Given the description of an element on the screen output the (x, y) to click on. 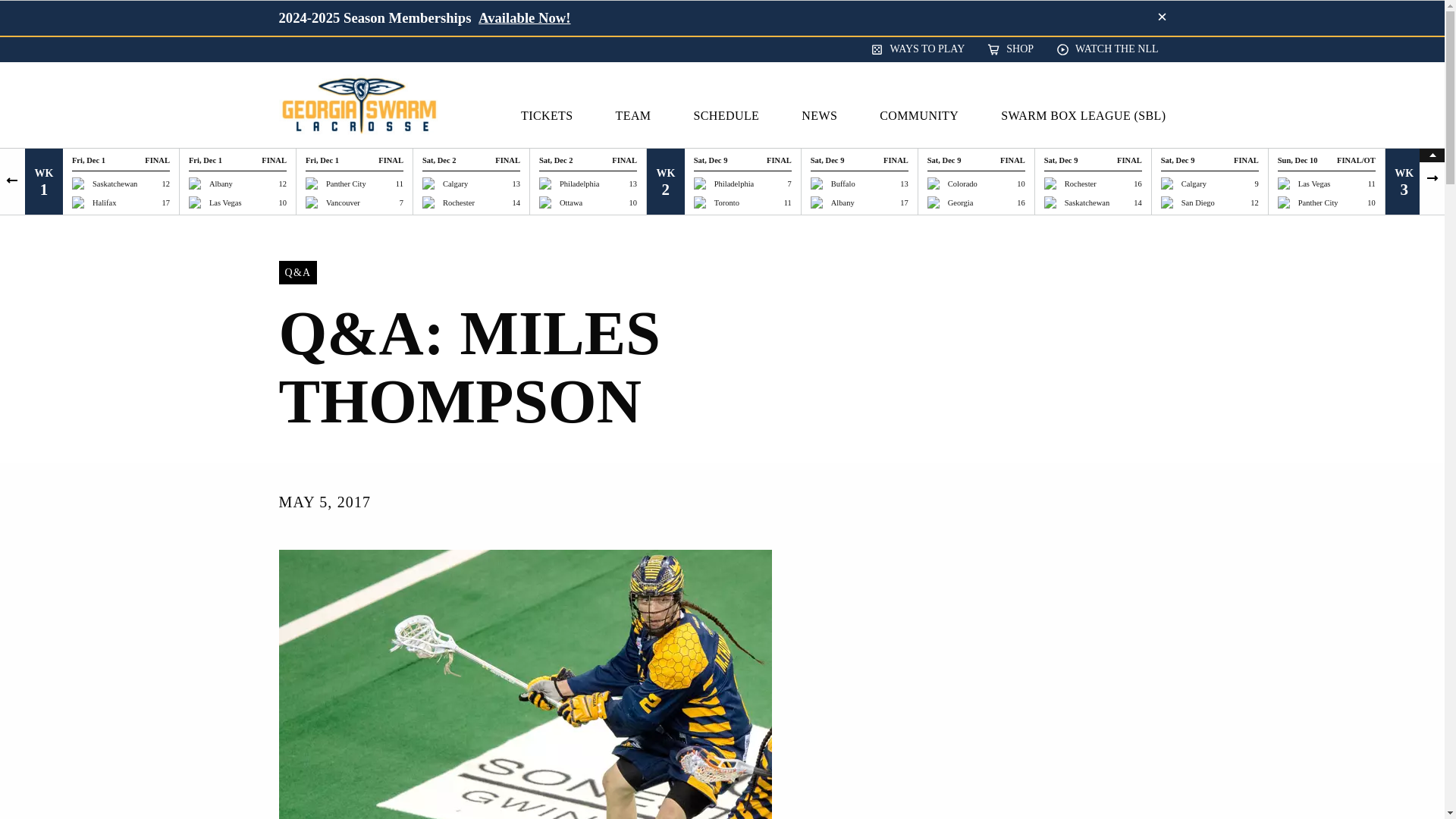
SHOP (1010, 49)
TICKETS (554, 115)
WAYS TO PLAY (916, 49)
Available Now! (524, 17)
NEWS (826, 115)
Betting icon (879, 49)
Shop icon (996, 49)
SCHEDULE (733, 115)
WATCH THE NLL (1107, 49)
TEAM (640, 115)
